Given the description of an element on the screen output the (x, y) to click on. 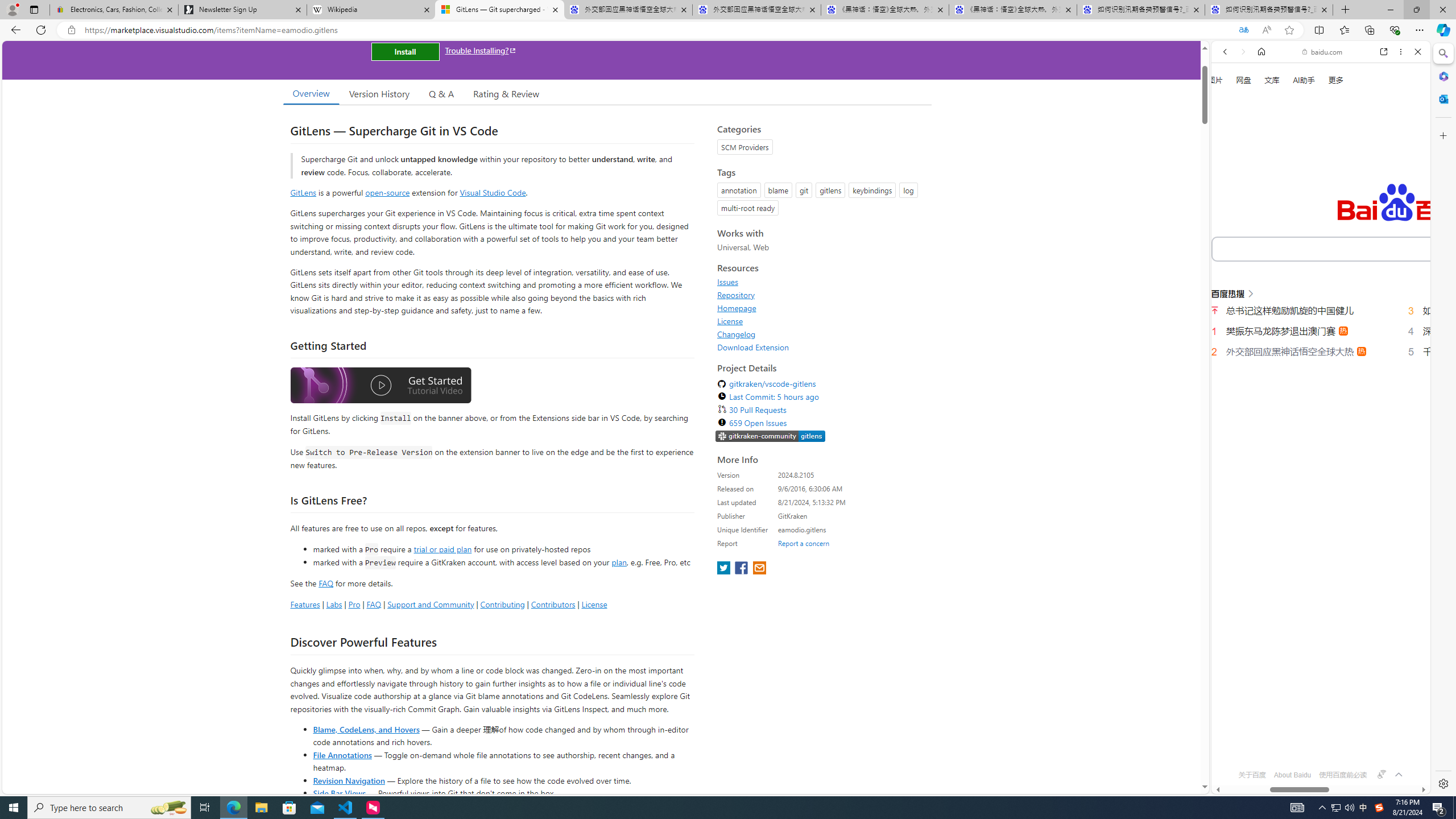
File Annotations (342, 754)
Address and search bar (658, 29)
Side Bar Views (339, 792)
WEB   (1230, 192)
Open link in new tab (1383, 51)
trial or paid plan (442, 548)
English (Uk) (1320, 353)
Watch the GitLens Getting Started video (380, 385)
OFTV - Enjoy videos from your favorite OF creators! (1315, 753)
